Given the description of an element on the screen output the (x, y) to click on. 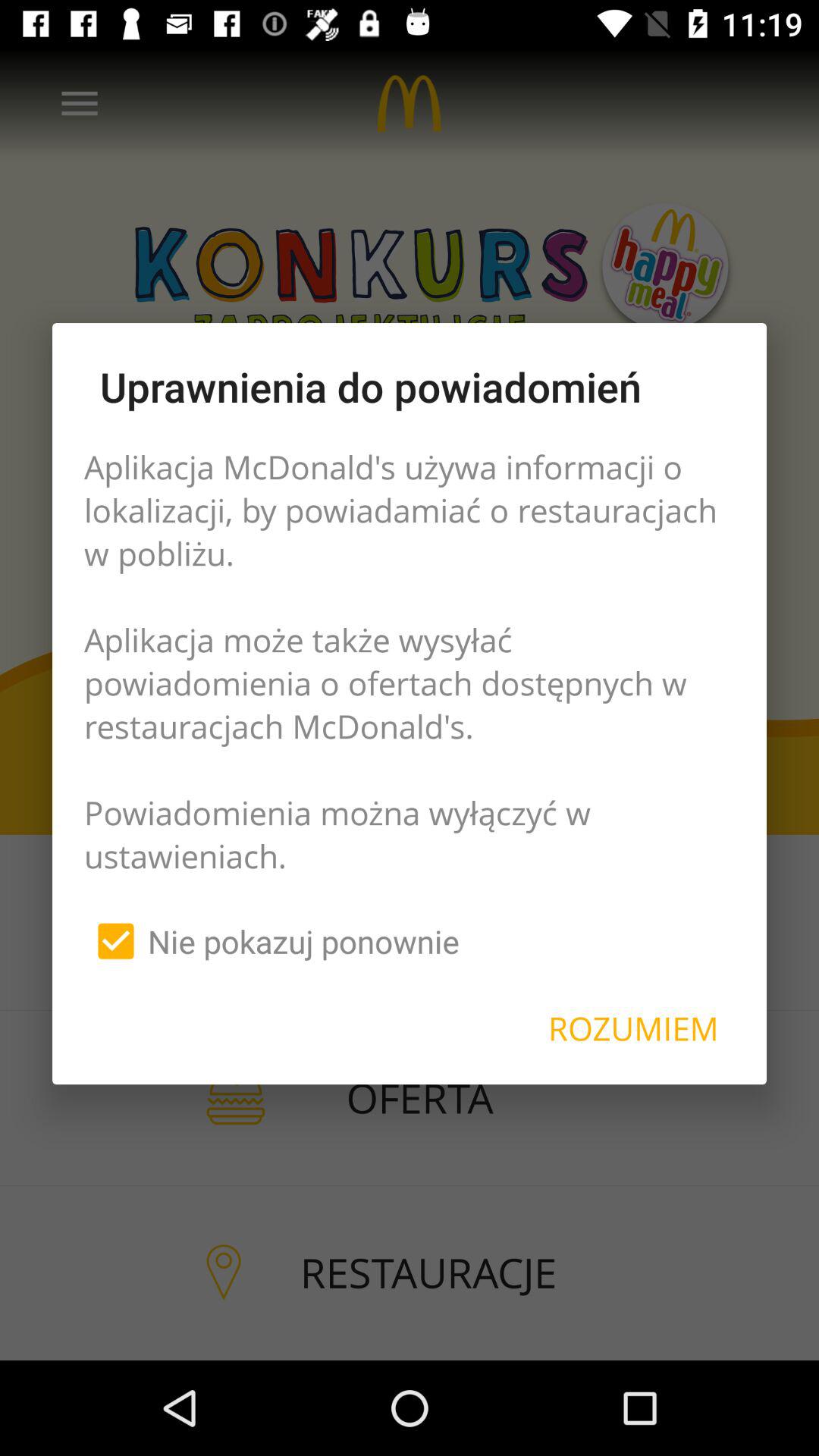
launch rozumiem at the bottom right corner (633, 1028)
